Given the description of an element on the screen output the (x, y) to click on. 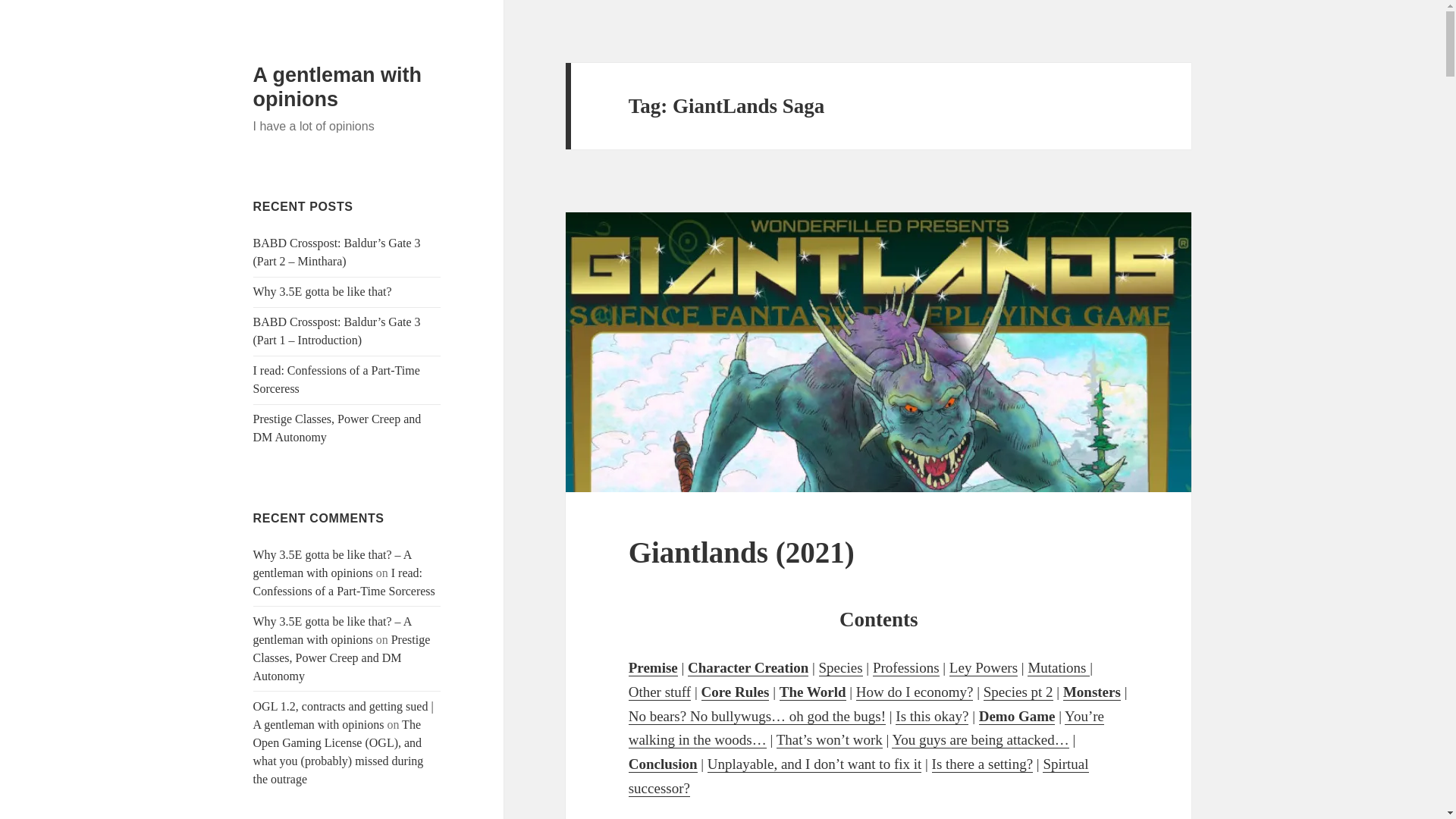
I read: Confessions of a Part-Time Sorceress (344, 581)
A gentleman with opinions (337, 86)
I read: Confessions of a Part-Time Sorceress (336, 378)
Prestige Classes, Power Creep and DM Autonomy (341, 657)
Why 3.5E gotta be like that? (322, 291)
Prestige Classes, Power Creep and DM Autonomy (337, 427)
